Given the description of an element on the screen output the (x, y) to click on. 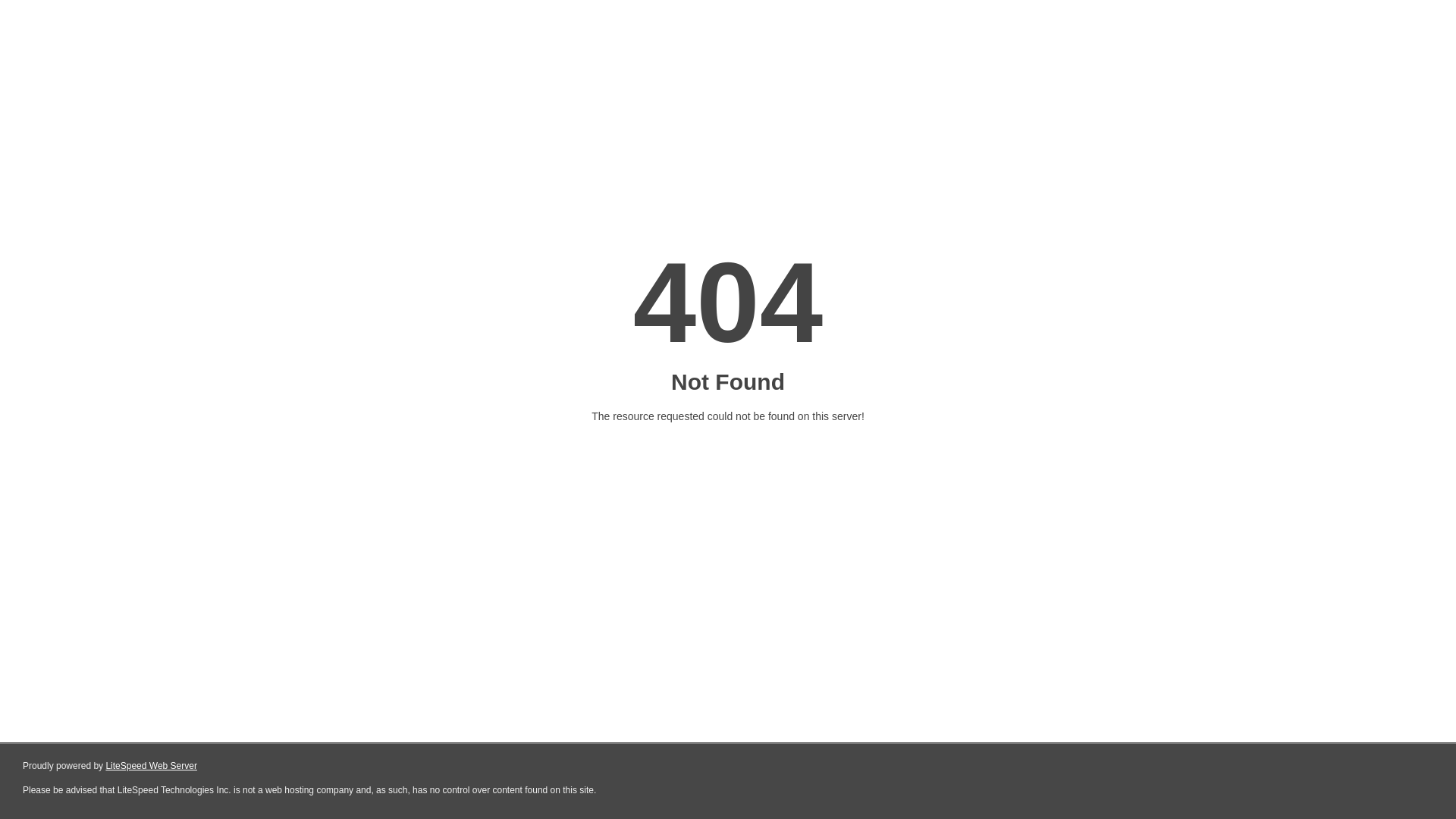
LiteSpeed Web Server Element type: text (151, 765)
